Given the description of an element on the screen output the (x, y) to click on. 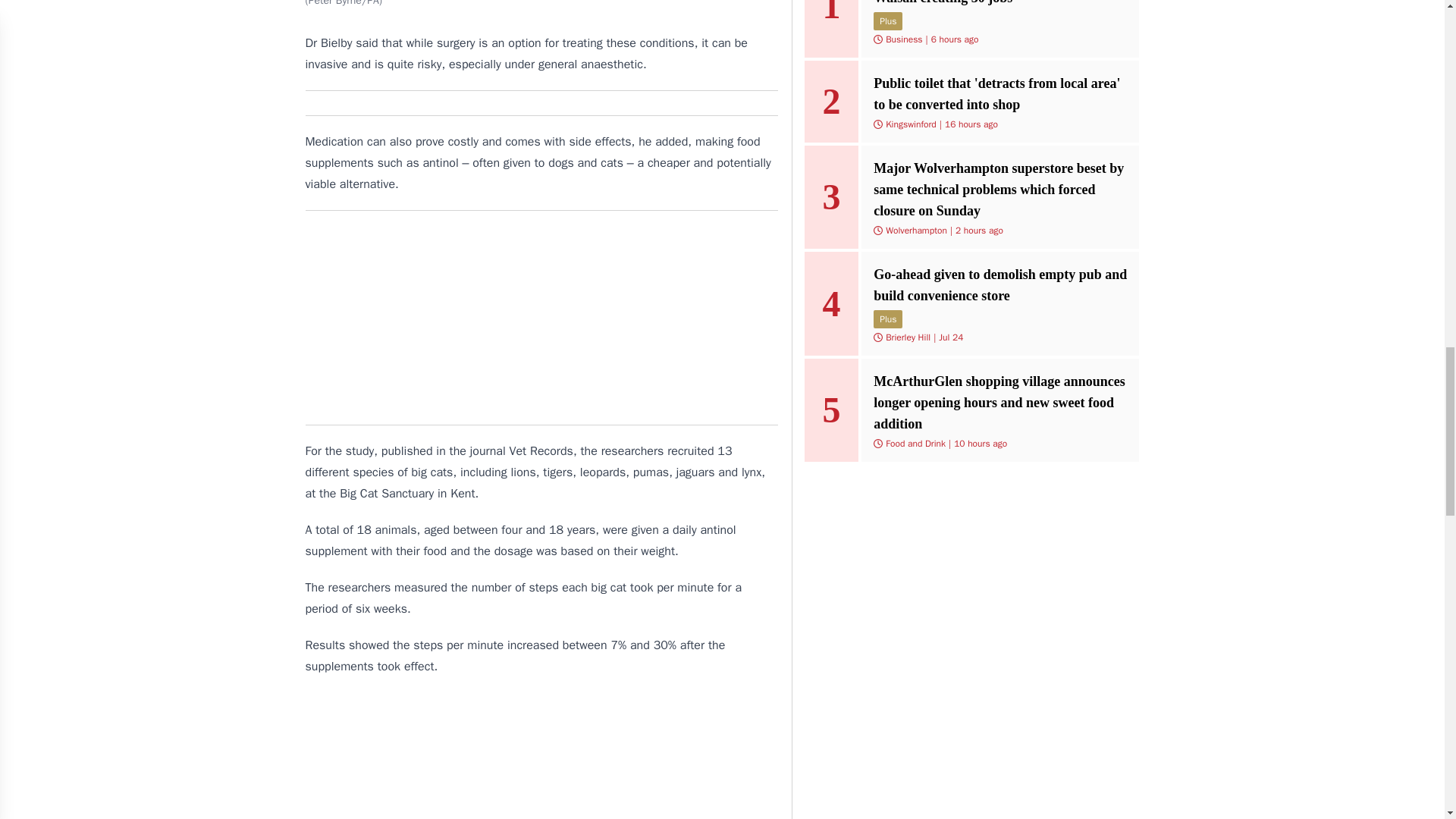
Business (903, 39)
Food and Drink (914, 443)
Wolverhampton (916, 230)
Brierley Hill (907, 337)
Kingswinford (910, 123)
